Given the description of an element on the screen output the (x, y) to click on. 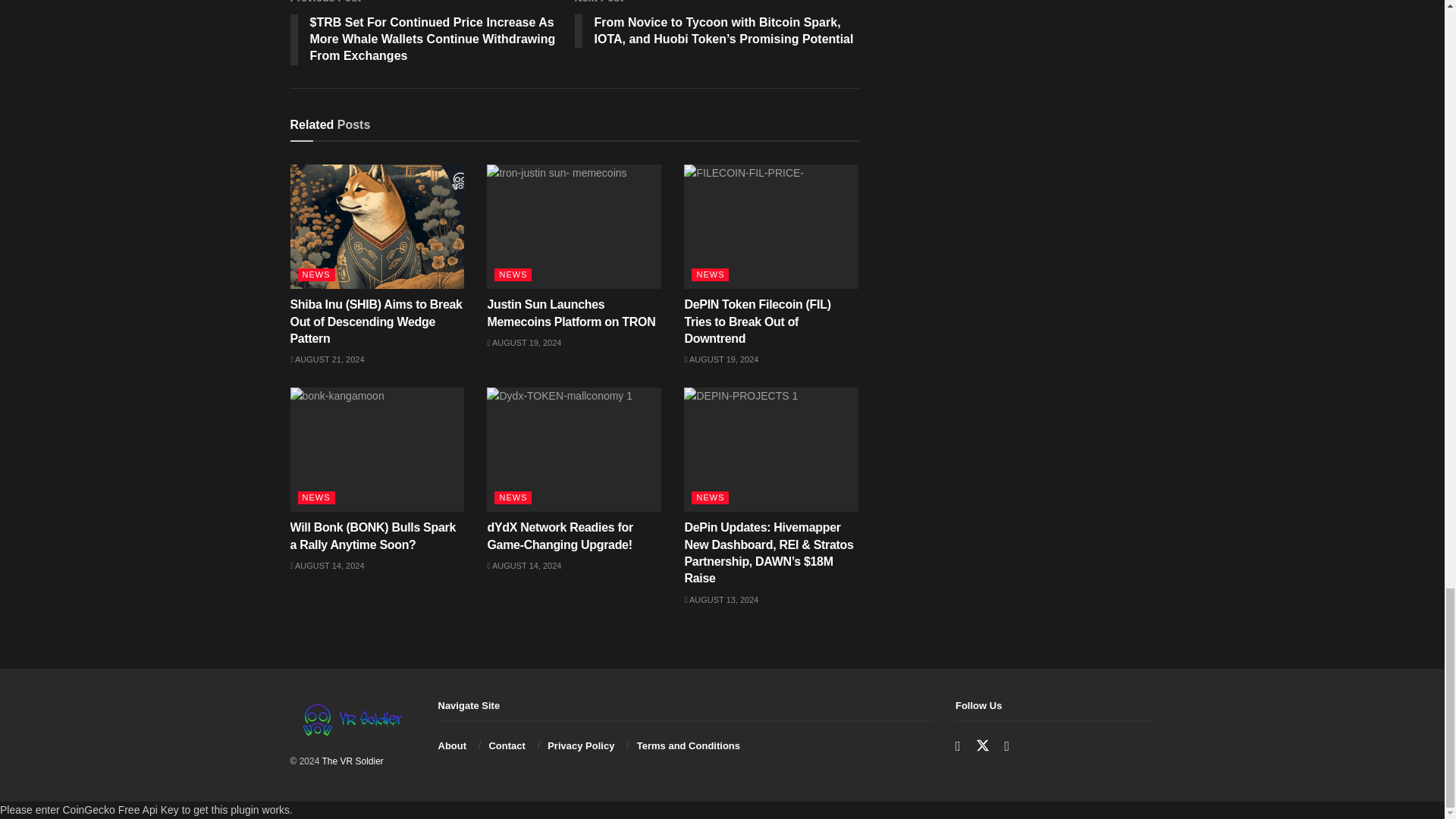
tron-justin sun- memecoins  The VR Soldier (573, 226)
DEPIN-PROJECTS 1  The VR Soldier (771, 449)
bonk-kangamoon 1  The VR Soldier (376, 449)
shiba -inu-shib-8891 1-mallconomy  The VR Soldier (376, 226)
FILECOIN-FIL-PRICE- 1  The VR Soldier (771, 226)
Dydx-TOKEN-mallconomy 1  The VR Soldier (573, 449)
